Given the description of an element on the screen output the (x, y) to click on. 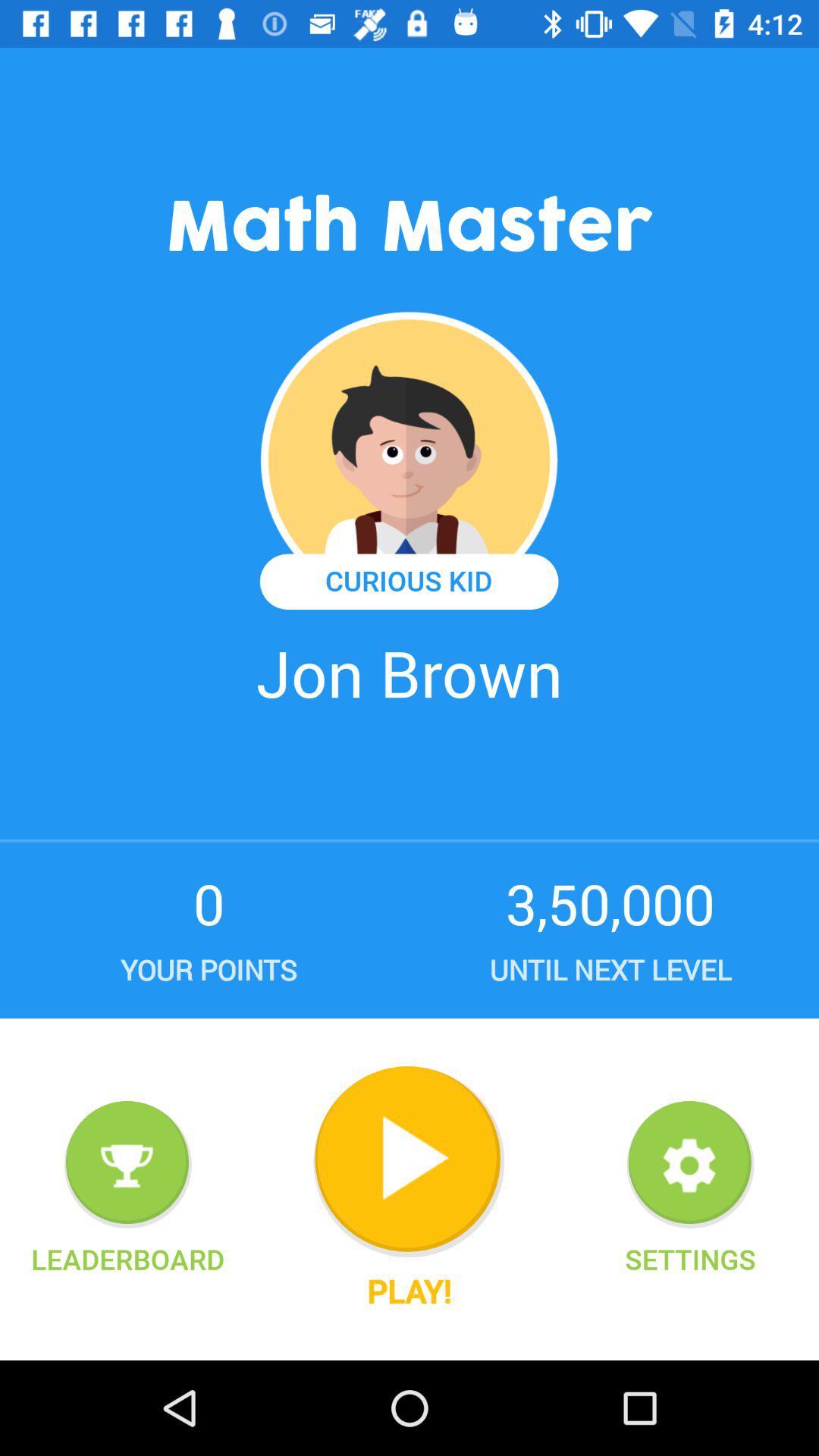
open the icon above the play! icon (408, 1161)
